Given the description of an element on the screen output the (x, y) to click on. 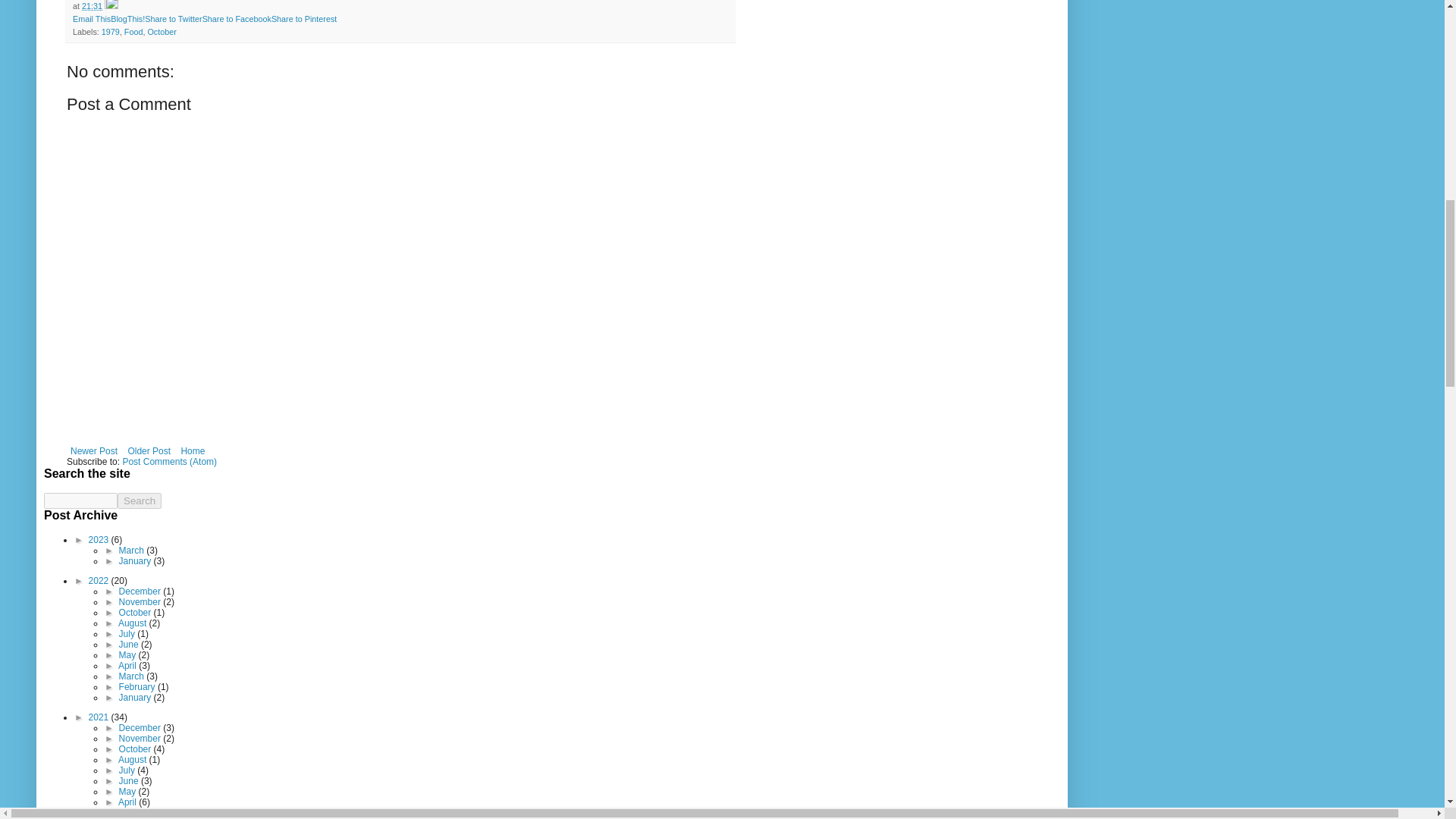
Newer Post (93, 451)
October (161, 31)
Email This (91, 18)
Edit Post (110, 5)
Share to Twitter (173, 18)
January (136, 561)
21:31 (91, 5)
Food (132, 31)
Older Post (148, 451)
Share to Twitter (173, 18)
2023 (100, 539)
March (133, 550)
permanent link (91, 5)
Search (139, 500)
Share to Facebook (236, 18)
